Given the description of an element on the screen output the (x, y) to click on. 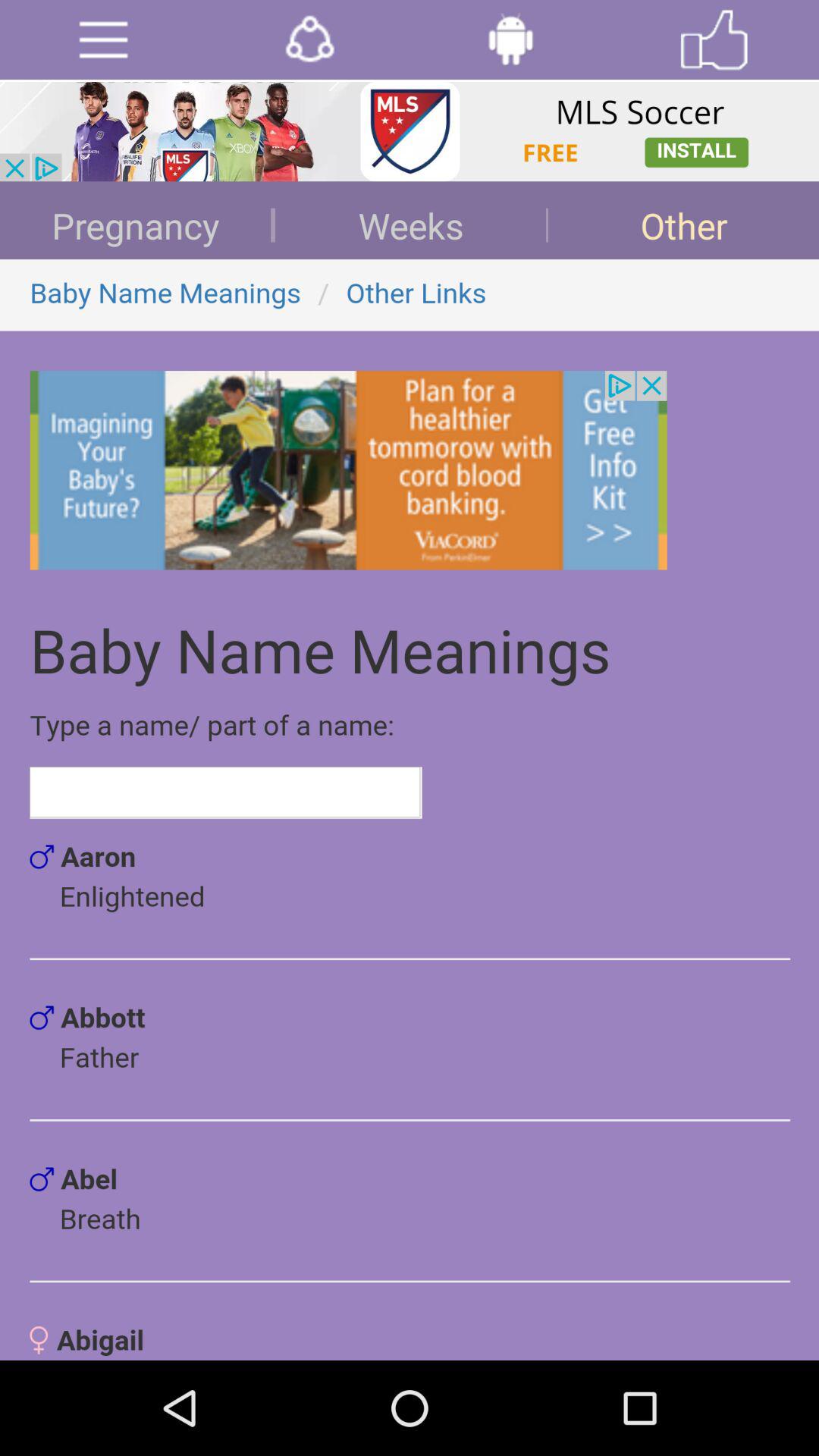
go to advertising partner (409, 131)
